Given the description of an element on the screen output the (x, y) to click on. 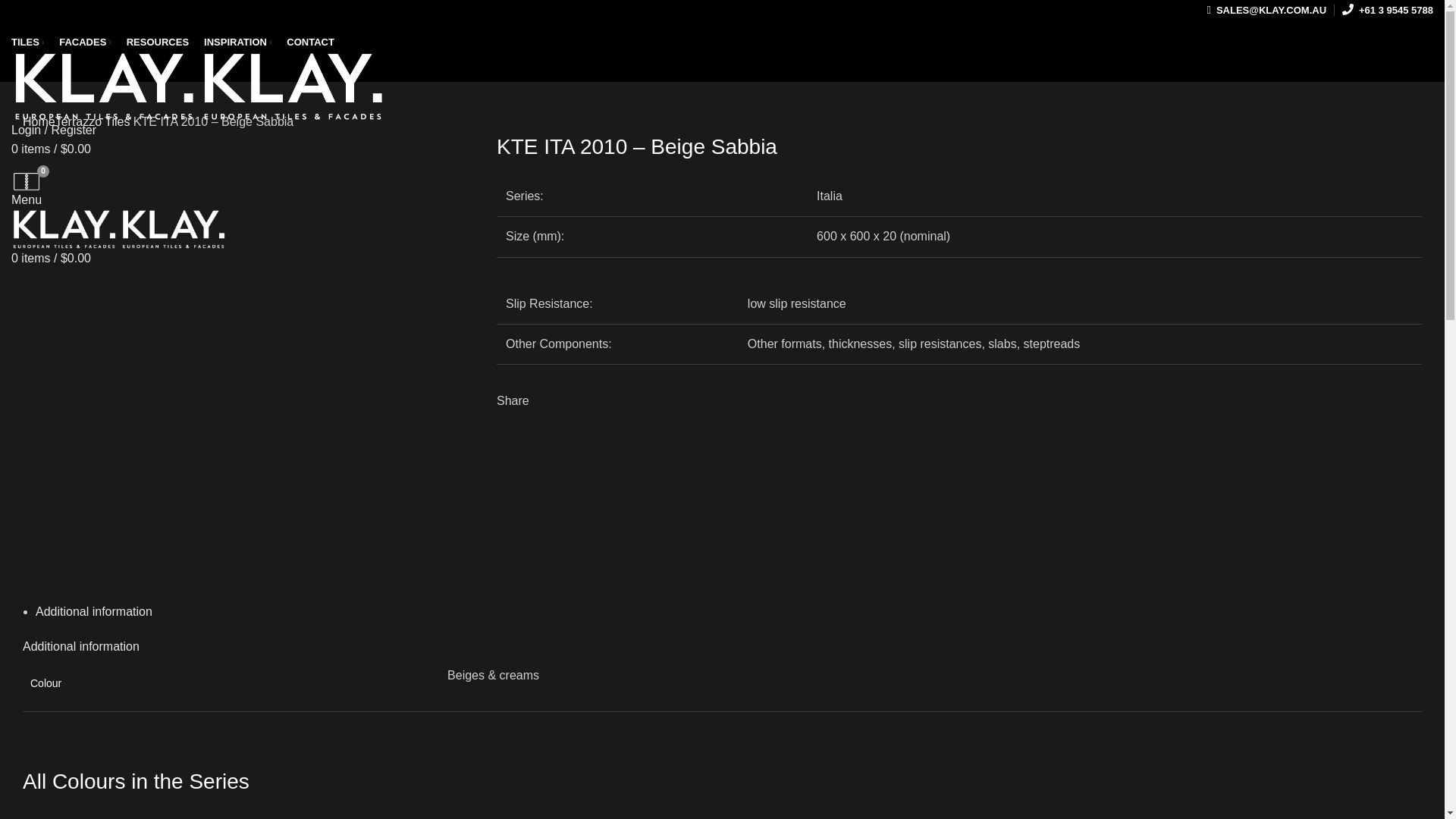
Menu Element type: text (26, 199)
BINDER Element type: text (26, 181)
Terrazzo Tiles Element type: text (92, 121)
FACADES Element type: text (85, 42)
TILES Element type: text (27, 42)
Home Element type: text (38, 121)
Additional information Element type: text (93, 611)
Additional information Element type: text (80, 646)
INSPIRATION Element type: text (237, 42)
RESOURCES Element type: text (157, 42)
0 items / $0.00 Element type: text (51, 257)
Login / Register Element type: text (53, 129)
CONTACT Element type: text (310, 42)
+61 3 9545 5788 Element type: text (1387, 10)
0 items / $0.00 Element type: text (51, 148)
SALES@KLAY.COM.AU Element type: text (1265, 10)
